Given the description of an element on the screen output the (x, y) to click on. 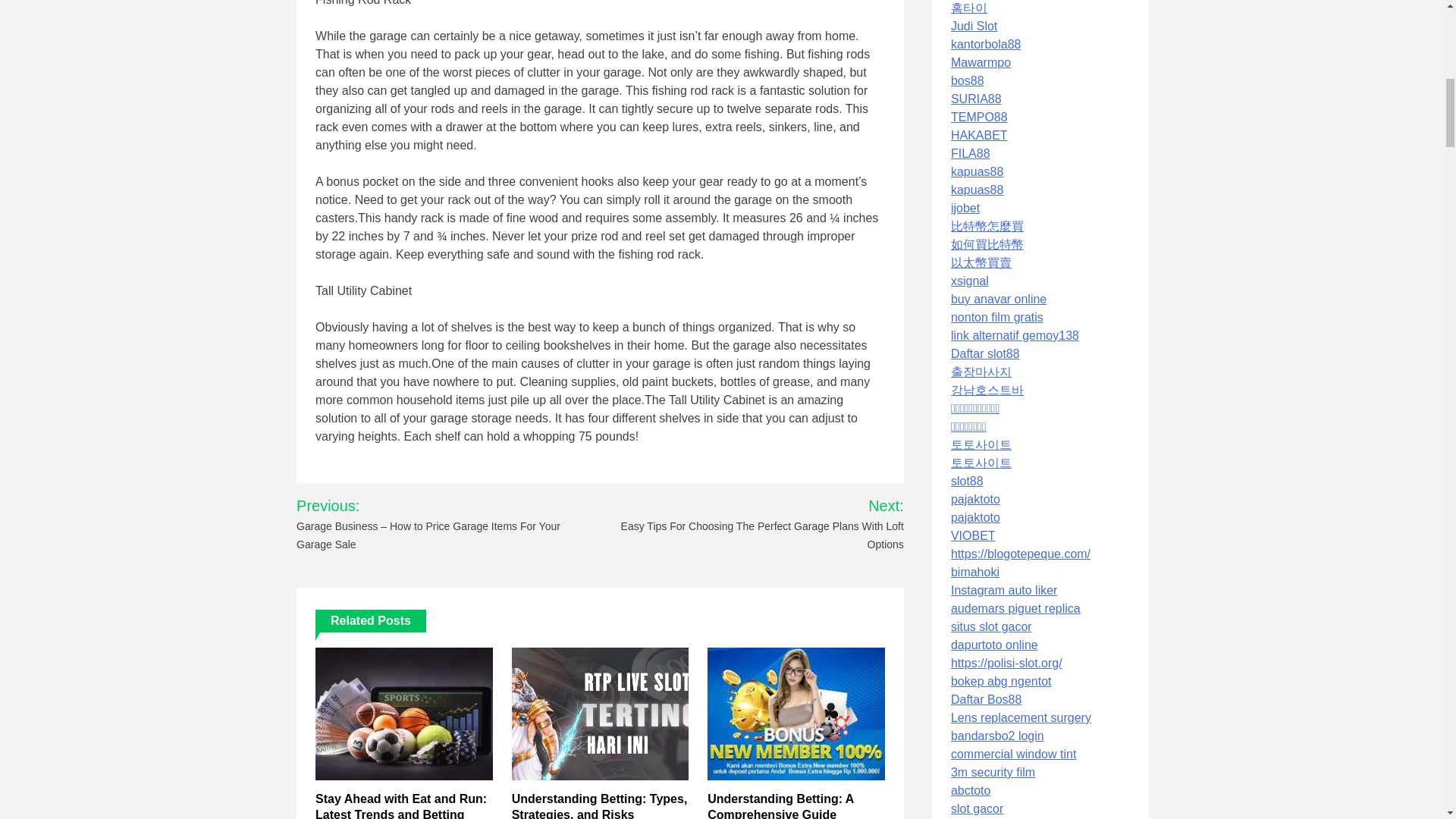
Understanding Betting: Types, Strategies, and Risks (599, 805)
Understanding Betting: A Comprehensive Guide (780, 805)
